Given the description of an element on the screen output the (x, y) to click on. 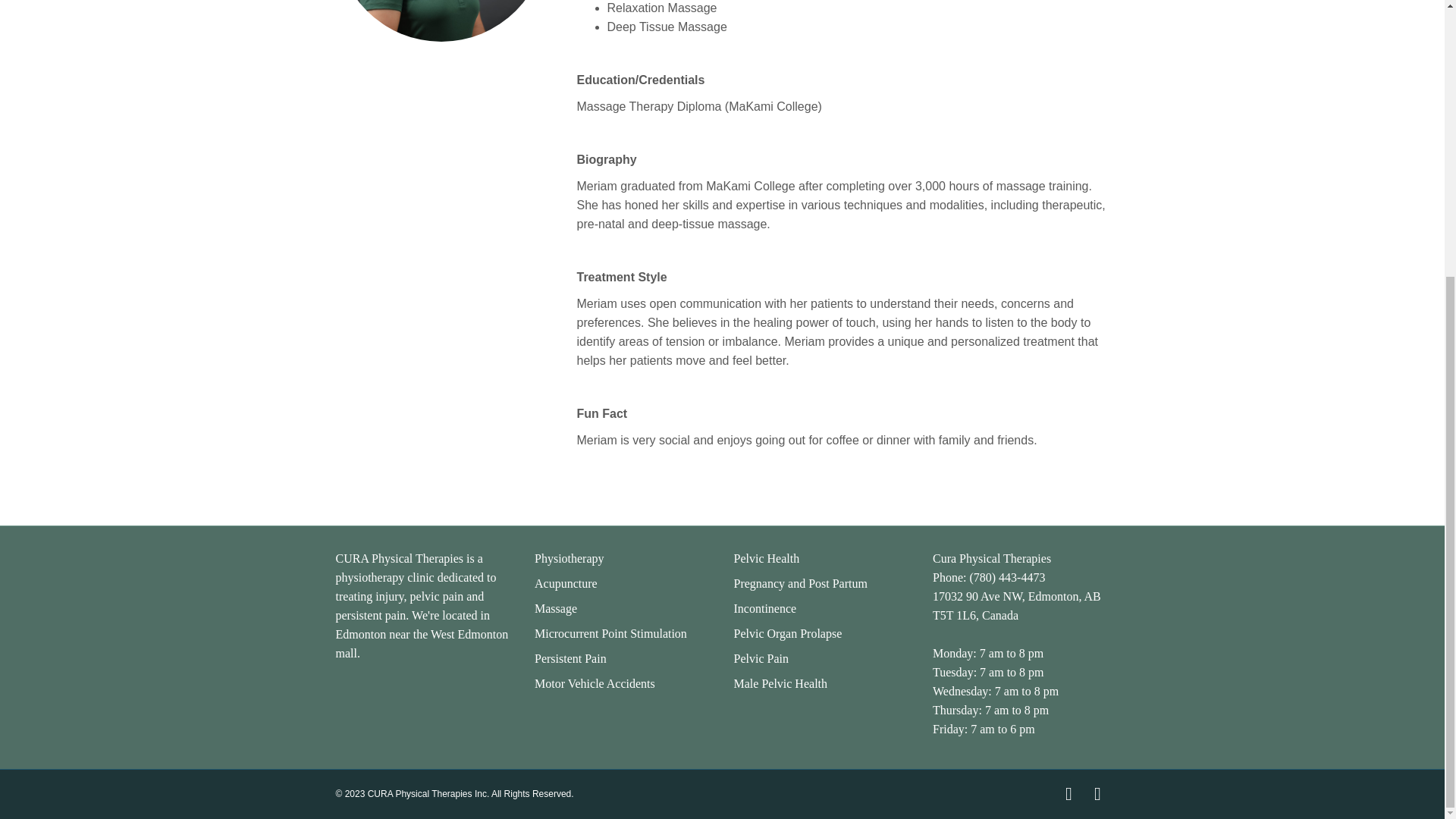
edited Cura36 (440, 20)
